Given the description of an element on the screen output the (x, y) to click on. 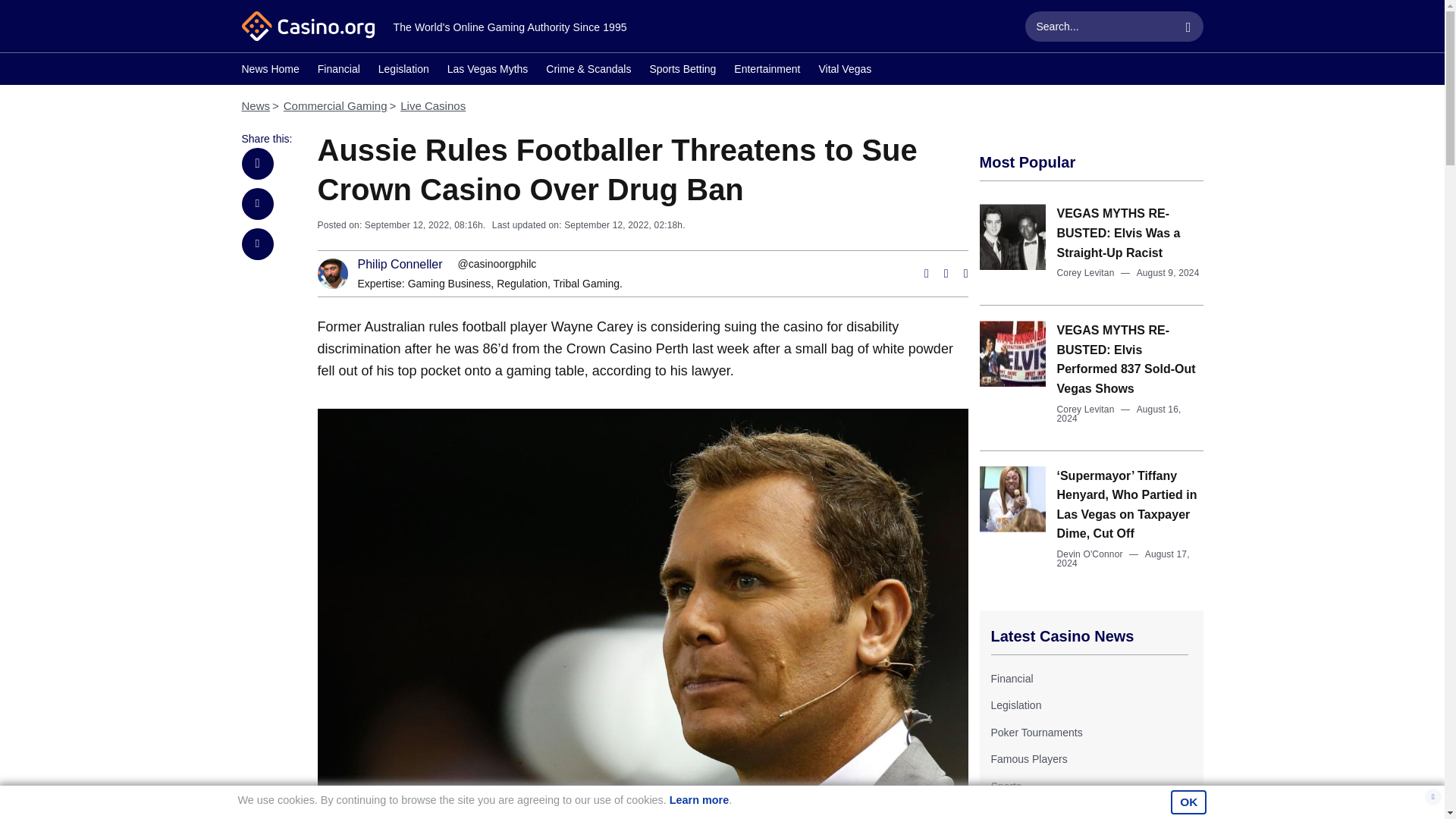
Sports (1005, 786)
Corey Levitan (1086, 272)
Sports Betting (682, 70)
Devin O'Connor (1089, 553)
Poker Tournaments (1035, 732)
Las Vegas Myths (487, 70)
Legislation (1015, 705)
Tribal Gaming (586, 283)
Entertainment (766, 70)
